Given the description of an element on the screen output the (x, y) to click on. 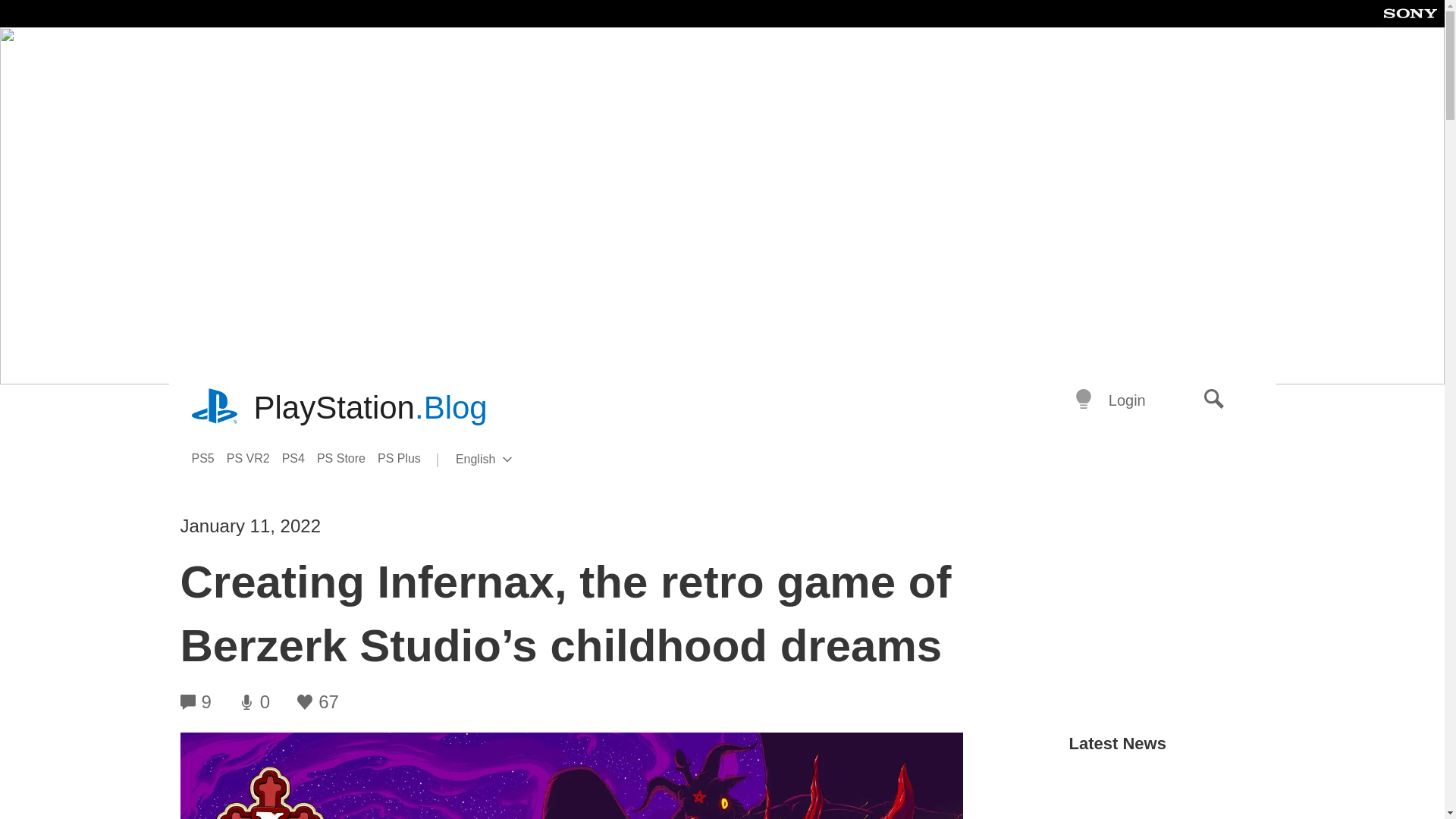
PS5 (207, 458)
PS Store (347, 458)
PlayStation.Blog (369, 407)
PS Plus (404, 458)
playstation.com (215, 408)
Search (1214, 400)
Login (1126, 400)
PS VR2 (254, 458)
PS4 (508, 459)
